Given the description of an element on the screen output the (x, y) to click on. 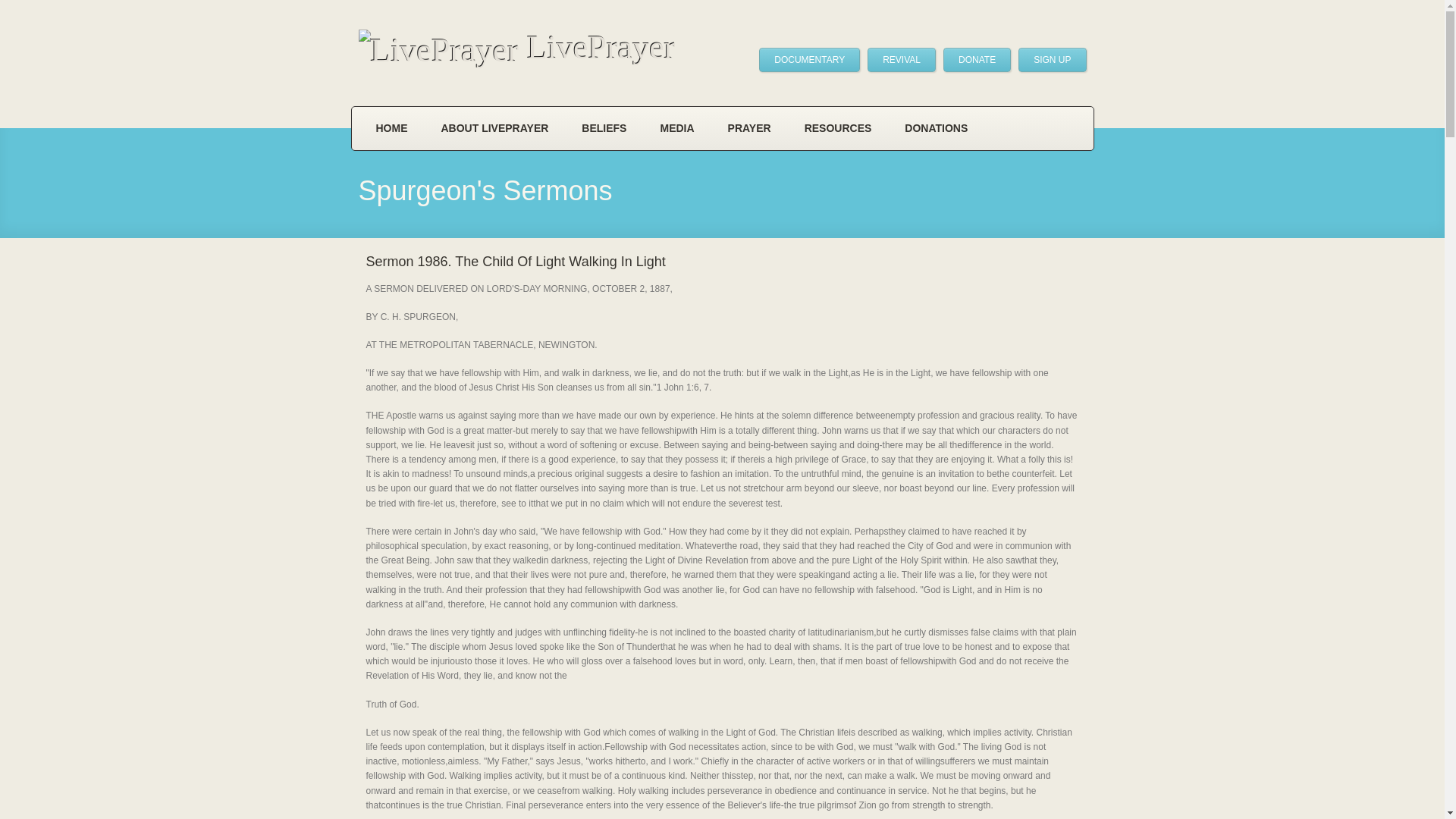
DOCUMENTARY (809, 59)
MEDIA (676, 128)
HOME (392, 128)
REVIVAL (901, 59)
DONATE (976, 59)
SIGN UP (1051, 59)
BELIEFS (603, 128)
LivePrayer (516, 48)
ABOUT LIVEPRAYER (495, 128)
